Given the description of an element on the screen output the (x, y) to click on. 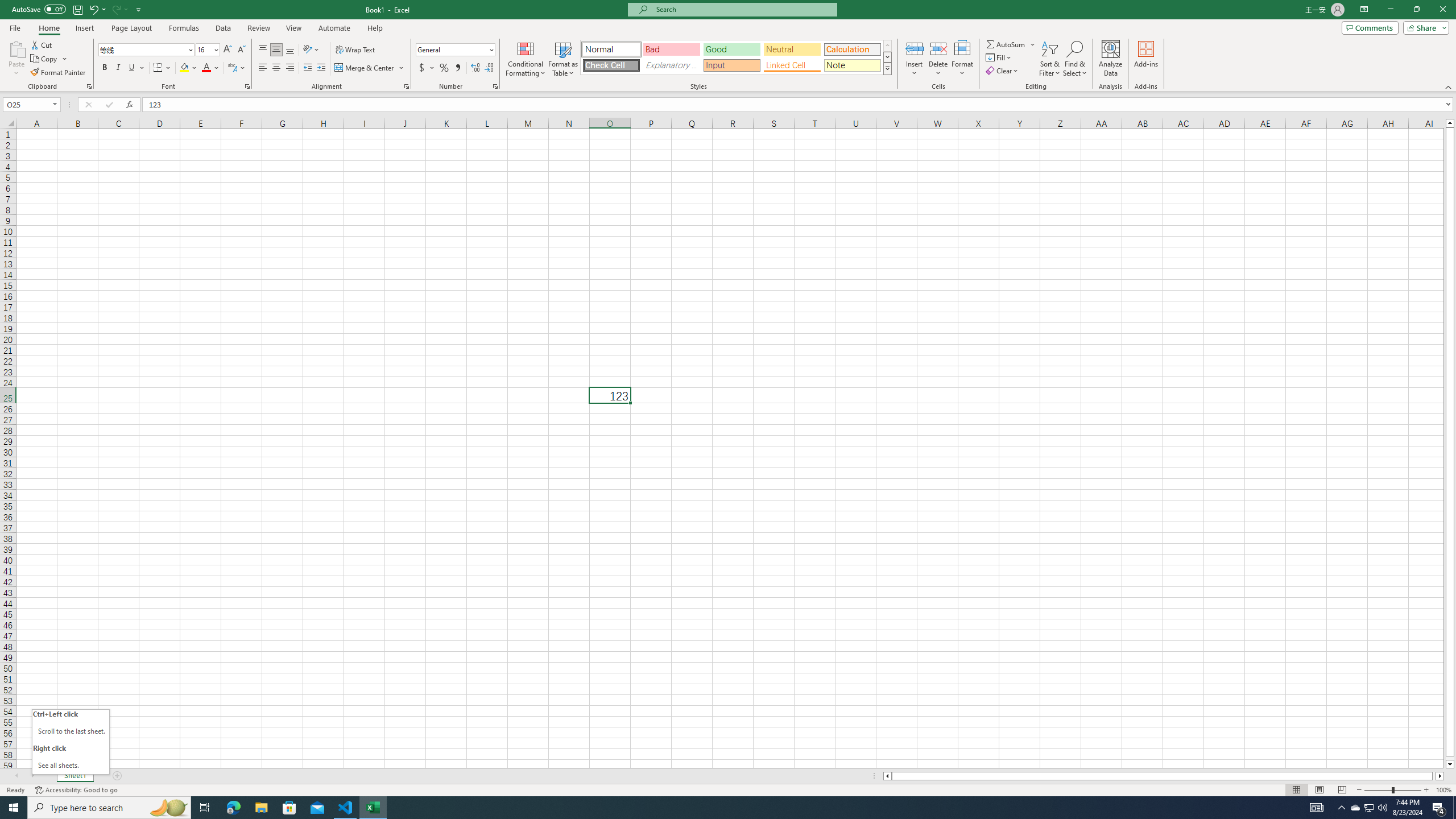
Font Color RGB(255, 0, 0) (206, 67)
Font Size (207, 49)
AutomationID: CellStylesGallery (736, 57)
Formula Bar (799, 104)
Good (731, 49)
Middle Align (276, 49)
Font Size (204, 49)
Increase Indent (320, 67)
Top Align (262, 49)
